Given the description of an element on the screen output the (x, y) to click on. 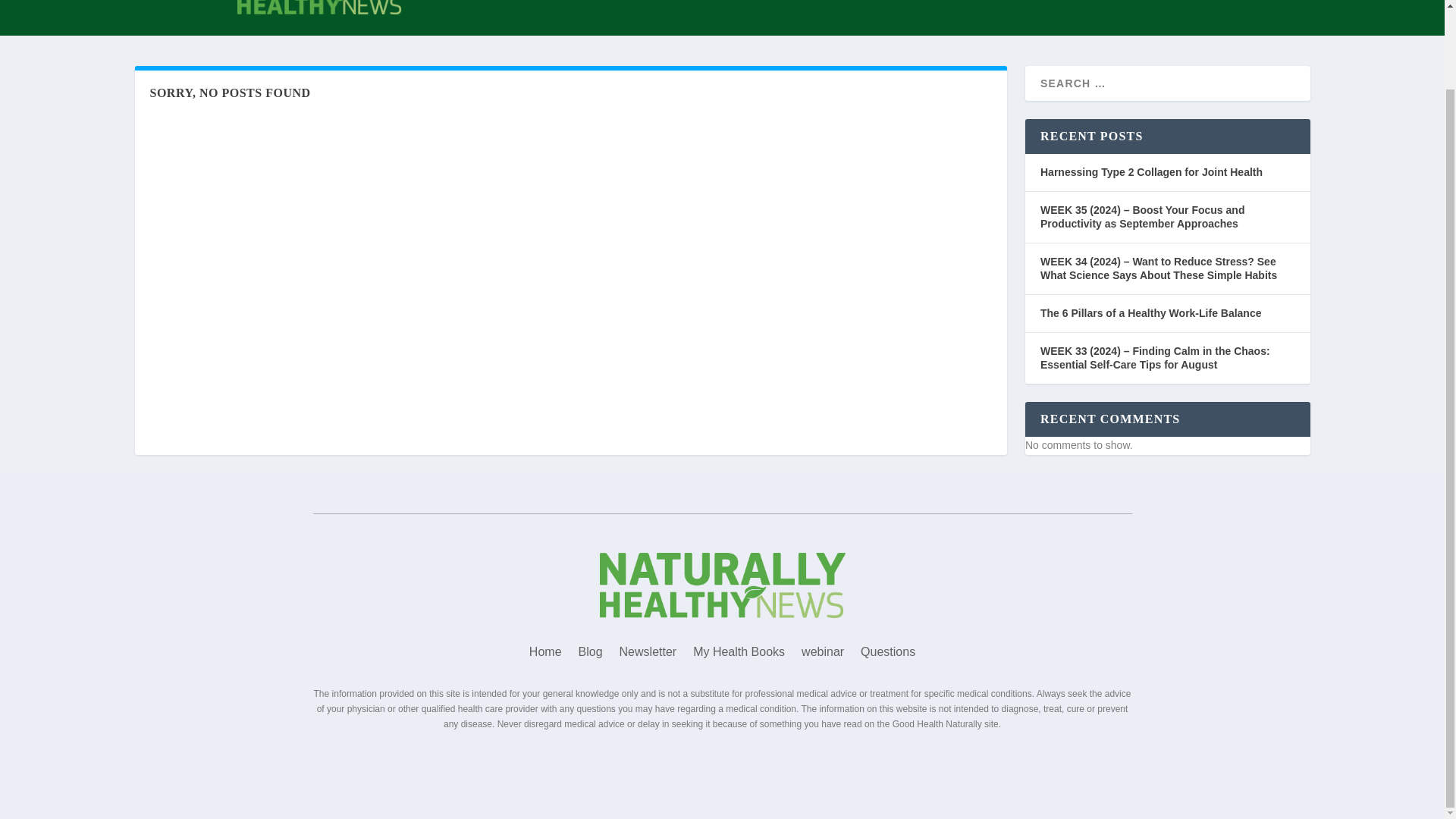
MY HEALTH BOOKS (950, 18)
Home (545, 655)
HOME (674, 18)
webinar (823, 655)
WEBINAR (1066, 18)
Blog (590, 655)
Questions (887, 655)
The 6 Pillars of a Healthy Work-Life Balance (1151, 313)
QUESTIONS (1157, 18)
My Health Books (738, 655)
